Given the description of an element on the screen output the (x, y) to click on. 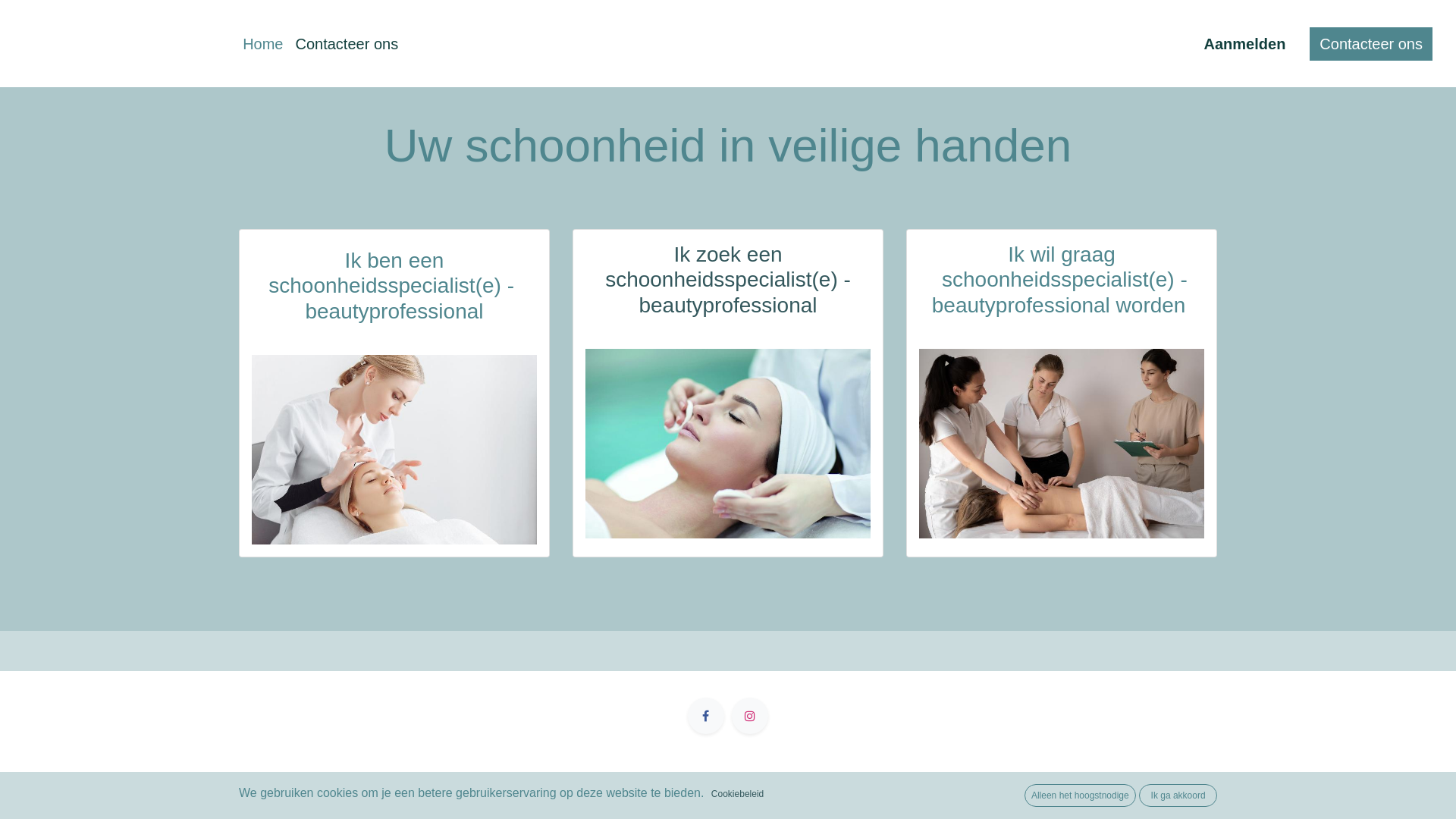
Contacteer ons Element type: text (1370, 43)
Besko Element type: hover (120, 43)
Home Element type: text (262, 43)
Contacteer ons Element type: text (346, 43)
Ik ben een schoonheidsspecialist(e) -  beautyprofessional Element type: text (393, 285)
Ik zoek een schoonheidsspecialist(e) - beautyprofessional Element type: text (727, 279)
Aanmelden Element type: text (1245, 43)
Ik ga akkoord Element type: text (1178, 795)
Cookiebeleid Element type: text (737, 793)
Alleen het hoogstnodige Element type: text (1079, 795)
